Given the description of an element on the screen output the (x, y) to click on. 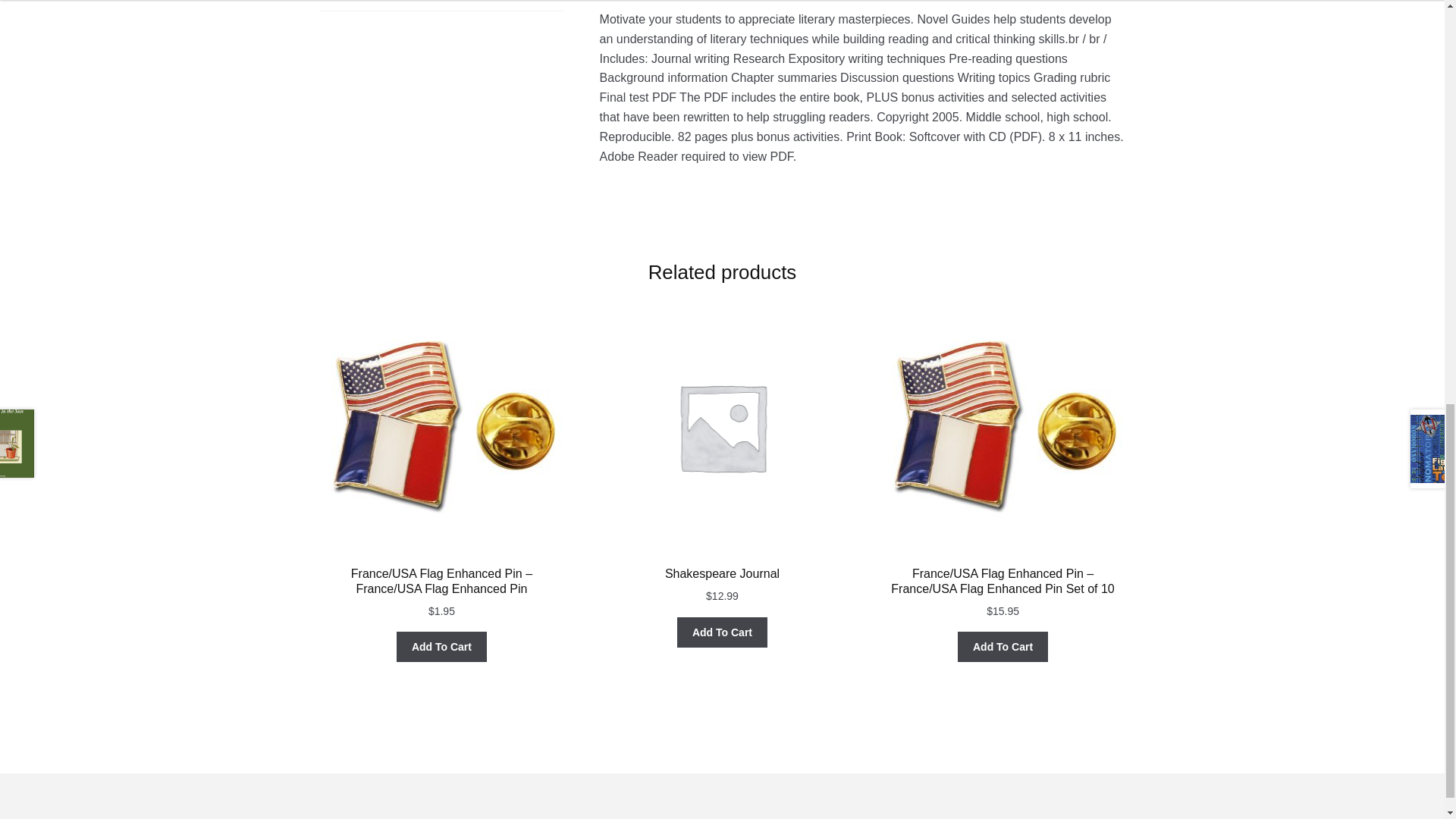
Description (441, 5)
Add To Cart (722, 632)
Add To Cart (441, 646)
Add To Cart (1003, 646)
